Given the description of an element on the screen output the (x, y) to click on. 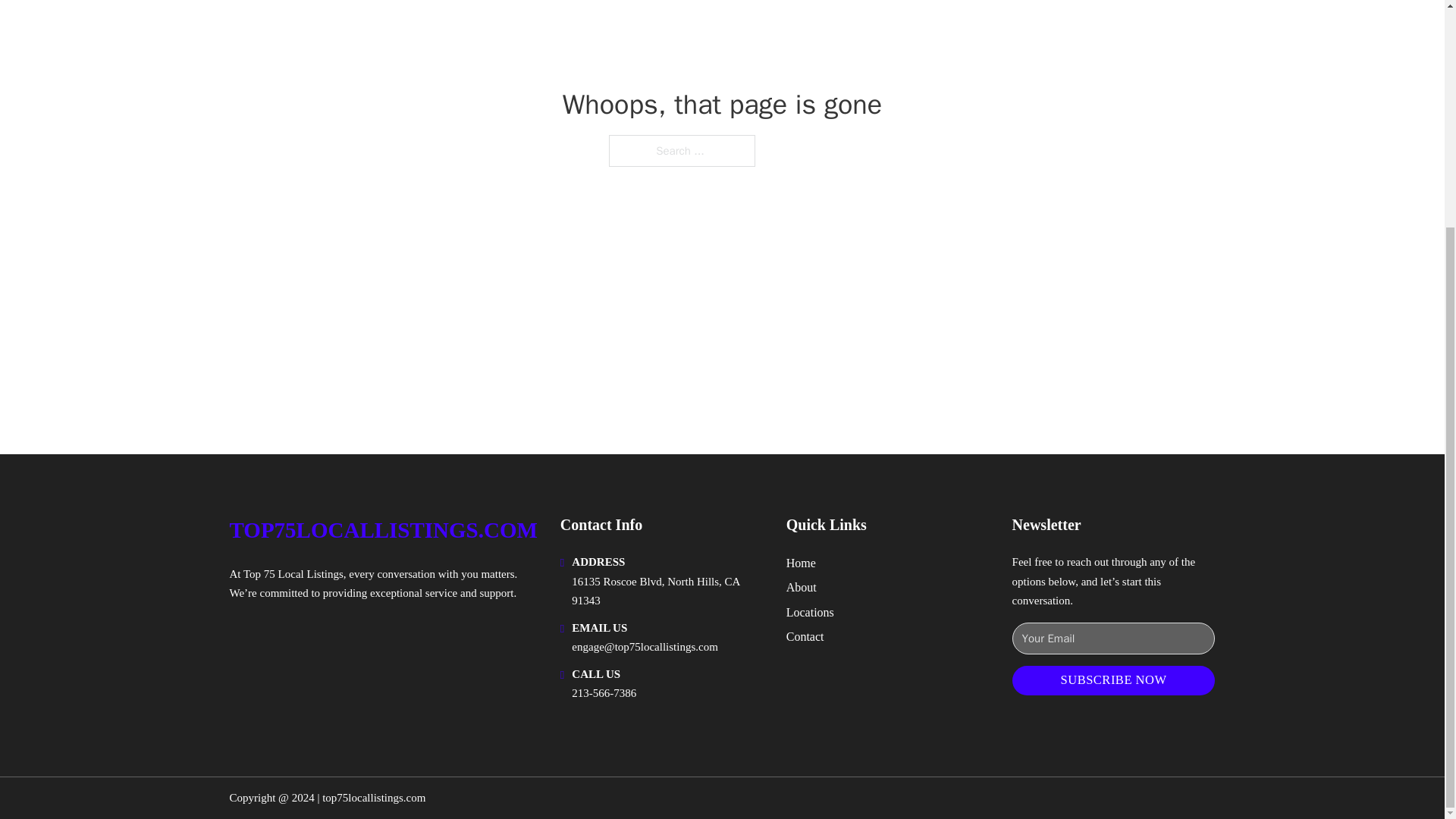
Contact (805, 636)
TOP75LOCALLISTINGS.COM (382, 529)
SUBSCRIBE NOW (1113, 680)
213-566-7386 (604, 693)
About (801, 587)
Locations (810, 611)
Home (800, 562)
